Given the description of an element on the screen output the (x, y) to click on. 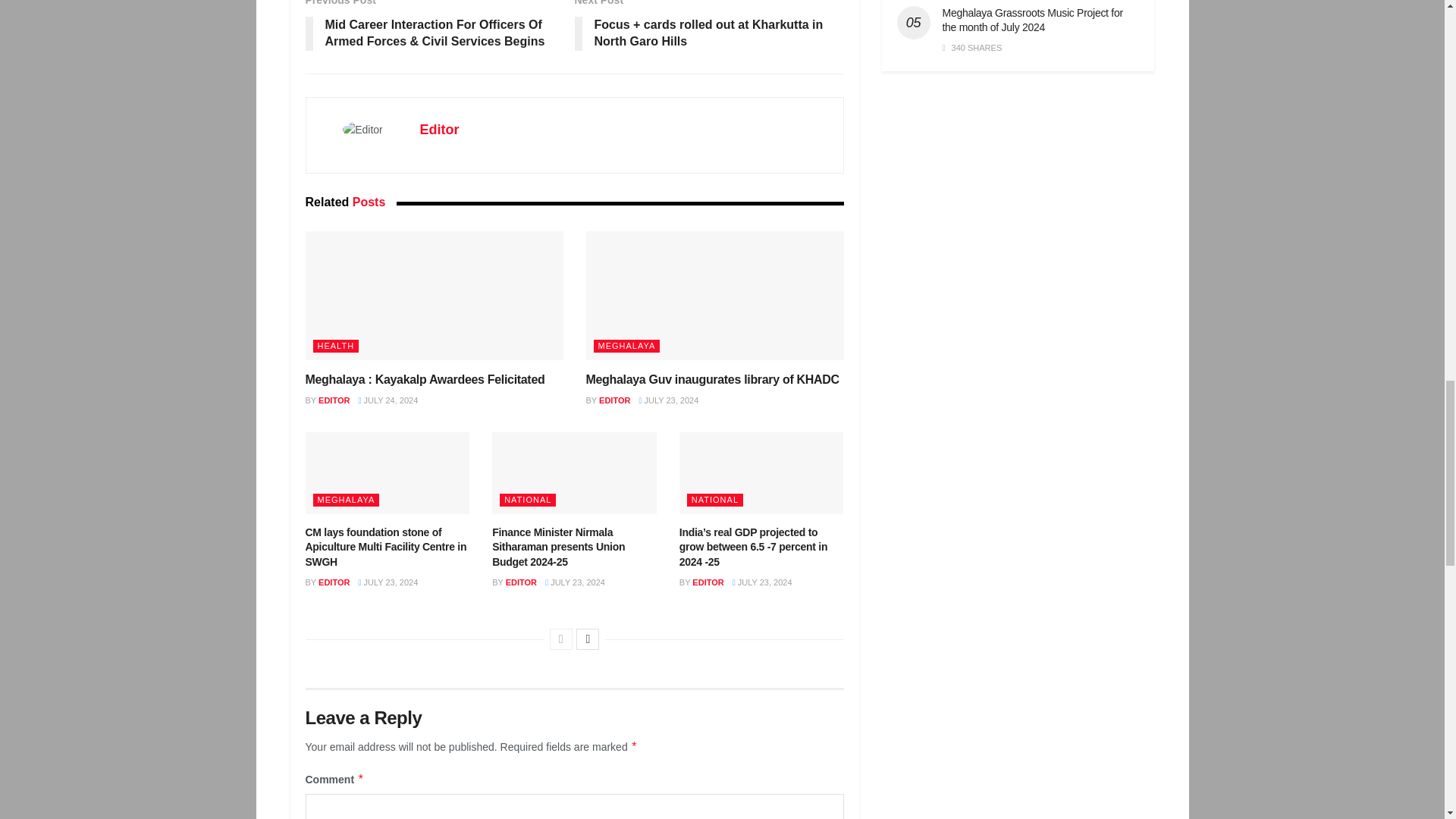
Next (587, 639)
Previous (561, 639)
